Given the description of an element on the screen output the (x, y) to click on. 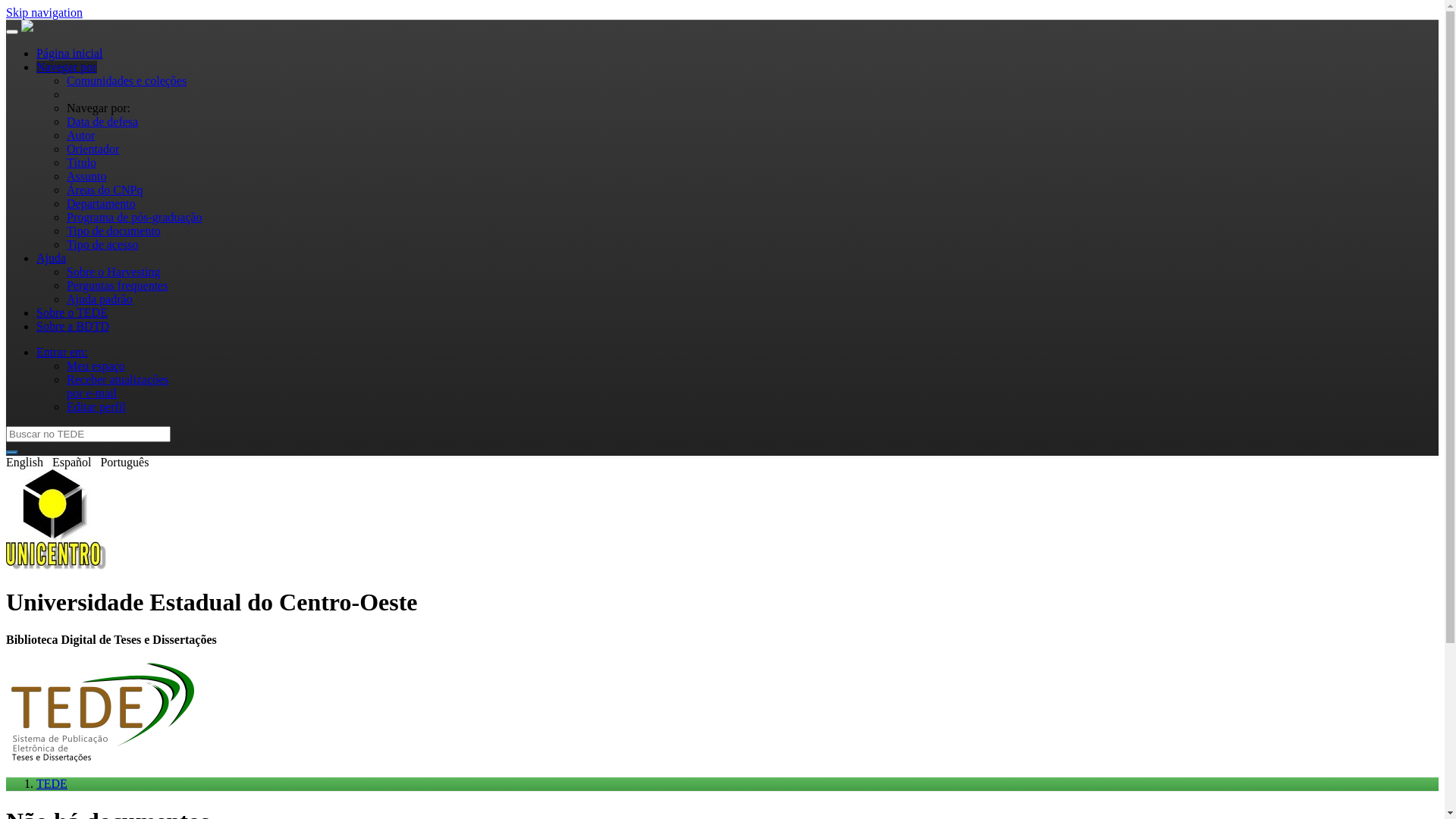
Navegar por Element type: text (66, 66)
Skip navigation Element type: text (44, 12)
Perguntas frequentes Element type: text (116, 285)
Tipo de acesso Element type: text (102, 244)
Editar perfil Element type: text (95, 406)
Sobre o TEDE Element type: text (71, 312)
Assunto Element type: text (86, 175)
Autor Element type: text (80, 134)
Sobre o Harvesting Element type: text (113, 271)
Orientador Element type: text (92, 148)
Departamento Element type: text (100, 203)
TEDE Element type: text (51, 783)
Sobre a BDTD Element type: text (72, 326)
Ajuda Element type: text (50, 257)
Tipo de documento Element type: text (113, 230)
English Element type: text (24, 461)
Entrar em: Element type: text (61, 351)
Data de defesa Element type: text (102, 121)
